Given the description of an element on the screen output the (x, y) to click on. 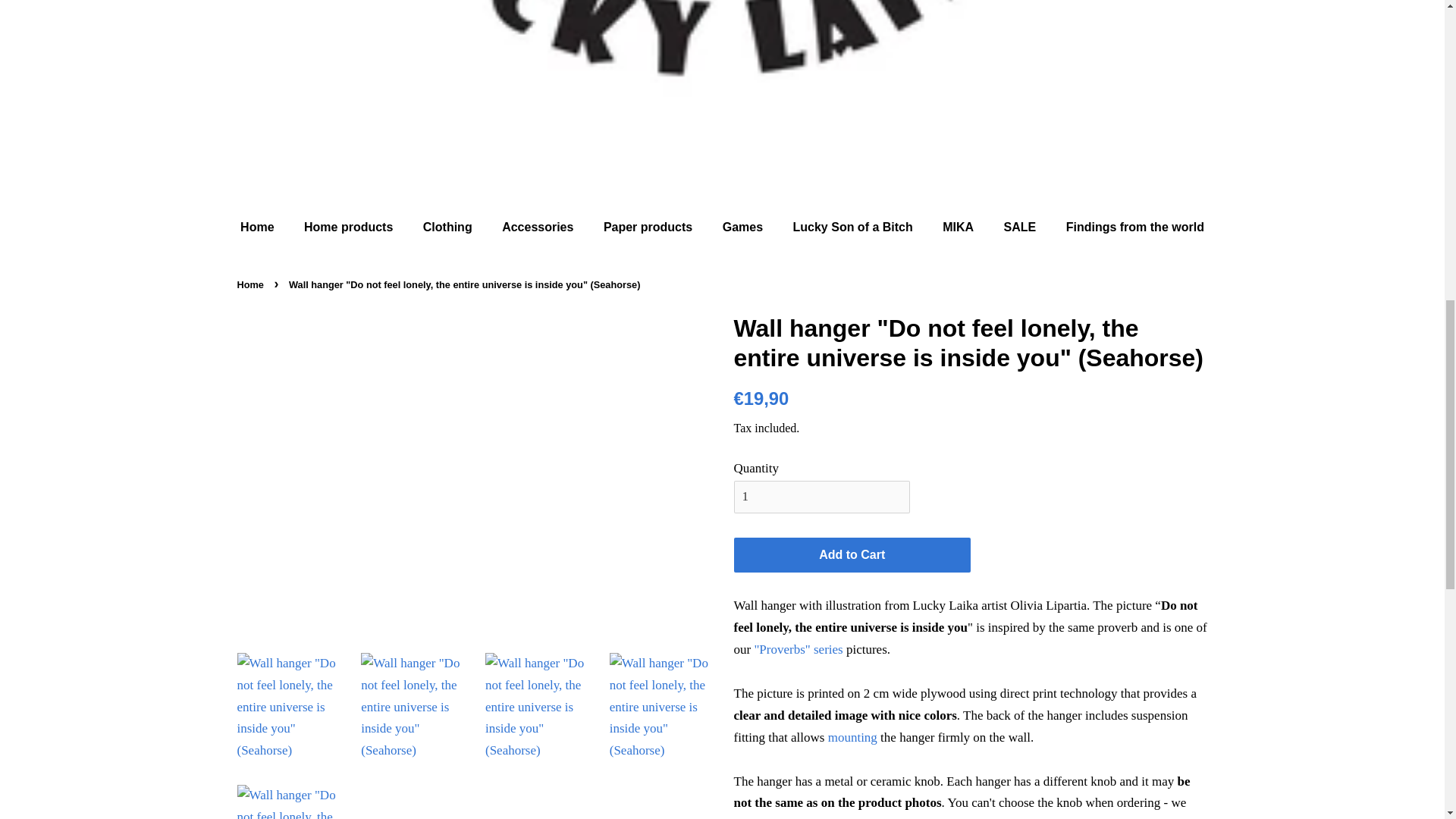
1 (821, 496)
Back to the frontpage (250, 284)
